Given the description of an element on the screen output the (x, y) to click on. 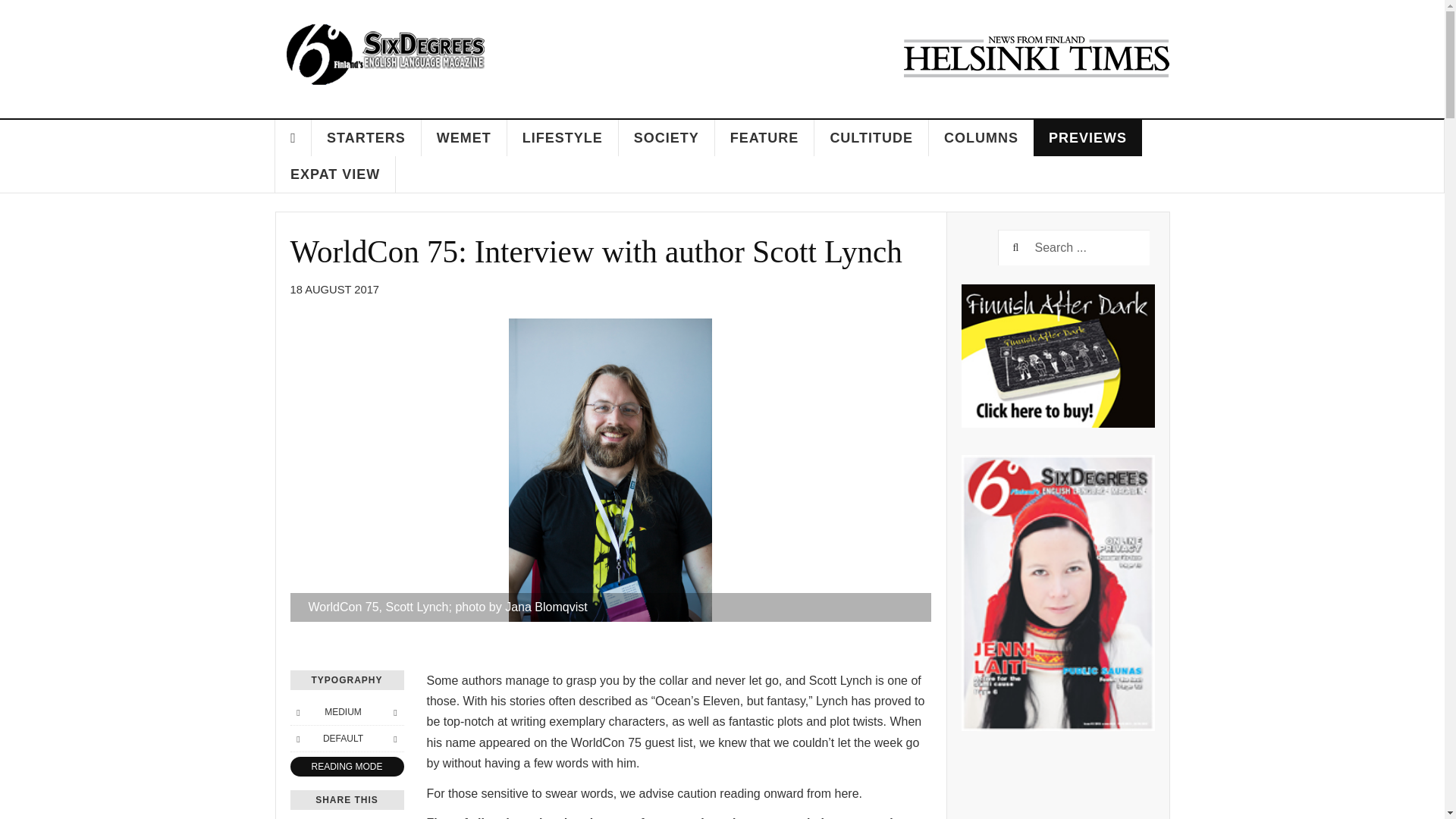
Previous Font Style (297, 738)
STARTERS (366, 137)
PREVIEWS (1087, 137)
HOME (293, 137)
CULTITUDE (870, 137)
Reading Mode (346, 766)
LIFESTYLE (562, 137)
WorldCon 75: Interview with author Scott Lynch (595, 251)
READING MODE (346, 766)
WEMET (464, 137)
Published:  (333, 289)
Bigger Font (395, 711)
Next Font Style (395, 738)
SixDegrees (385, 54)
COLUMNS (980, 137)
